Given the description of an element on the screen output the (x, y) to click on. 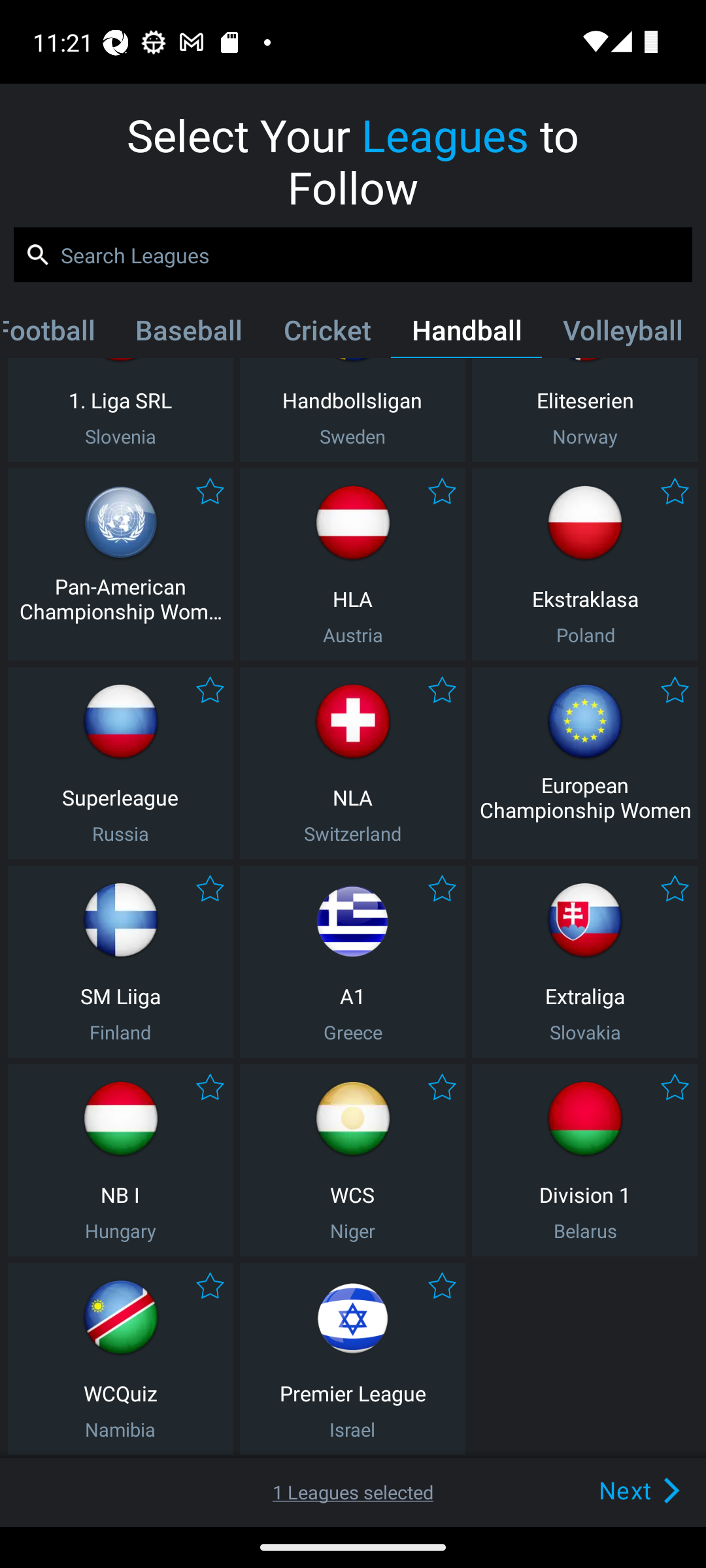
Search Leagues (352, 254)
A. Football (59, 333)
Baseball (188, 333)
Cricket (326, 333)
Handball (466, 333)
Volleyball (622, 333)
Pan-American Championship Women (120, 564)
HLA Austria (352, 564)
Ekstraklasa Poland (585, 564)
Superleague Russia (120, 762)
NLA Switzerland (352, 762)
European Championship Women (585, 762)
SM Liiga Finland (120, 961)
A1 Greece (352, 961)
Extraliga Slovakia (585, 961)
NB I Hungary (120, 1159)
WCS Niger (352, 1159)
Division 1 Belarus (585, 1159)
WCQuiz Namibia (120, 1358)
Premier League Israel (352, 1358)
Next (609, 1489)
1 Leagues selected (352, 1491)
